Given the description of an element on the screen output the (x, y) to click on. 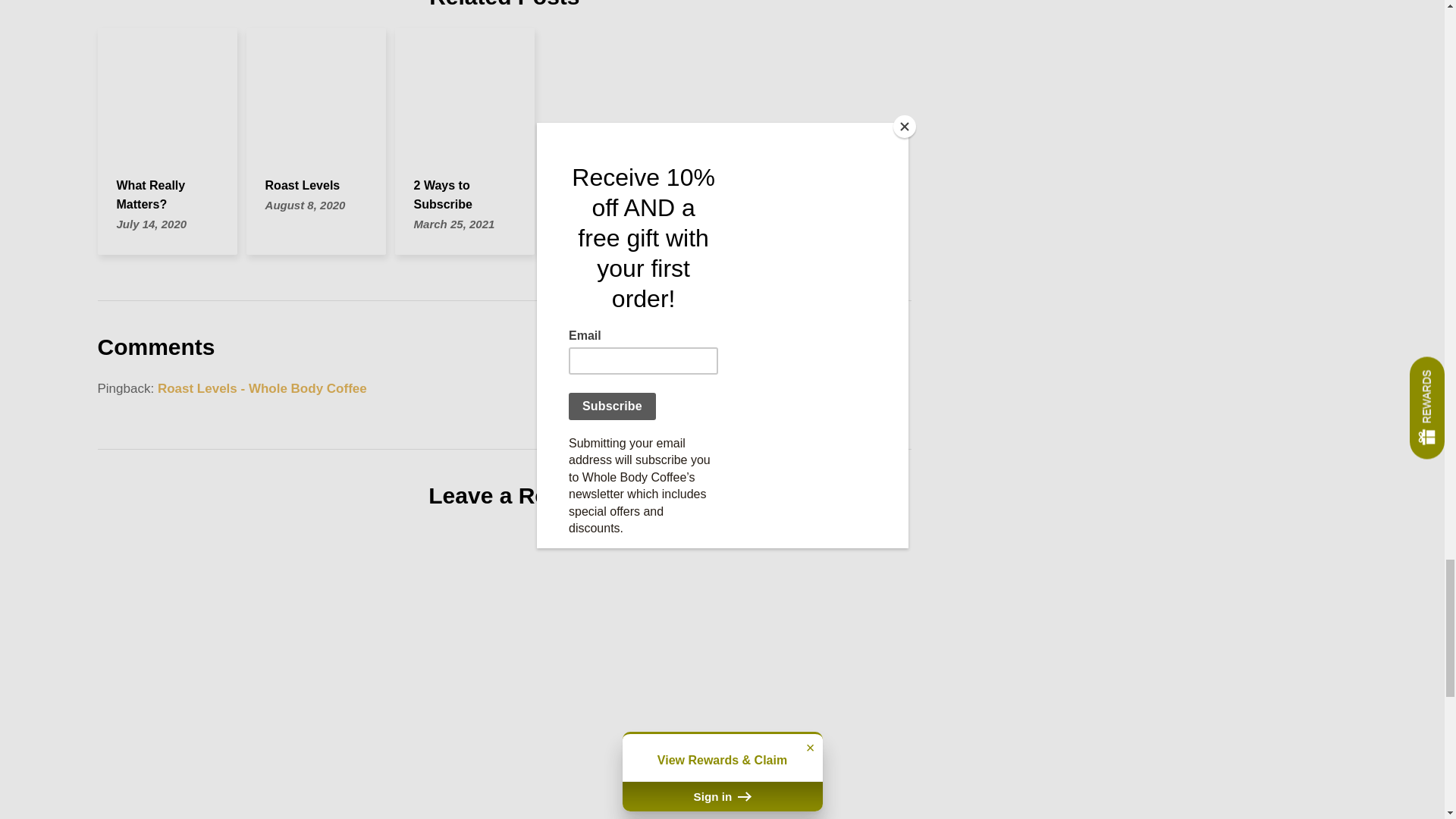
What Really Matters? (151, 194)
